Given the description of an element on the screen output the (x, y) to click on. 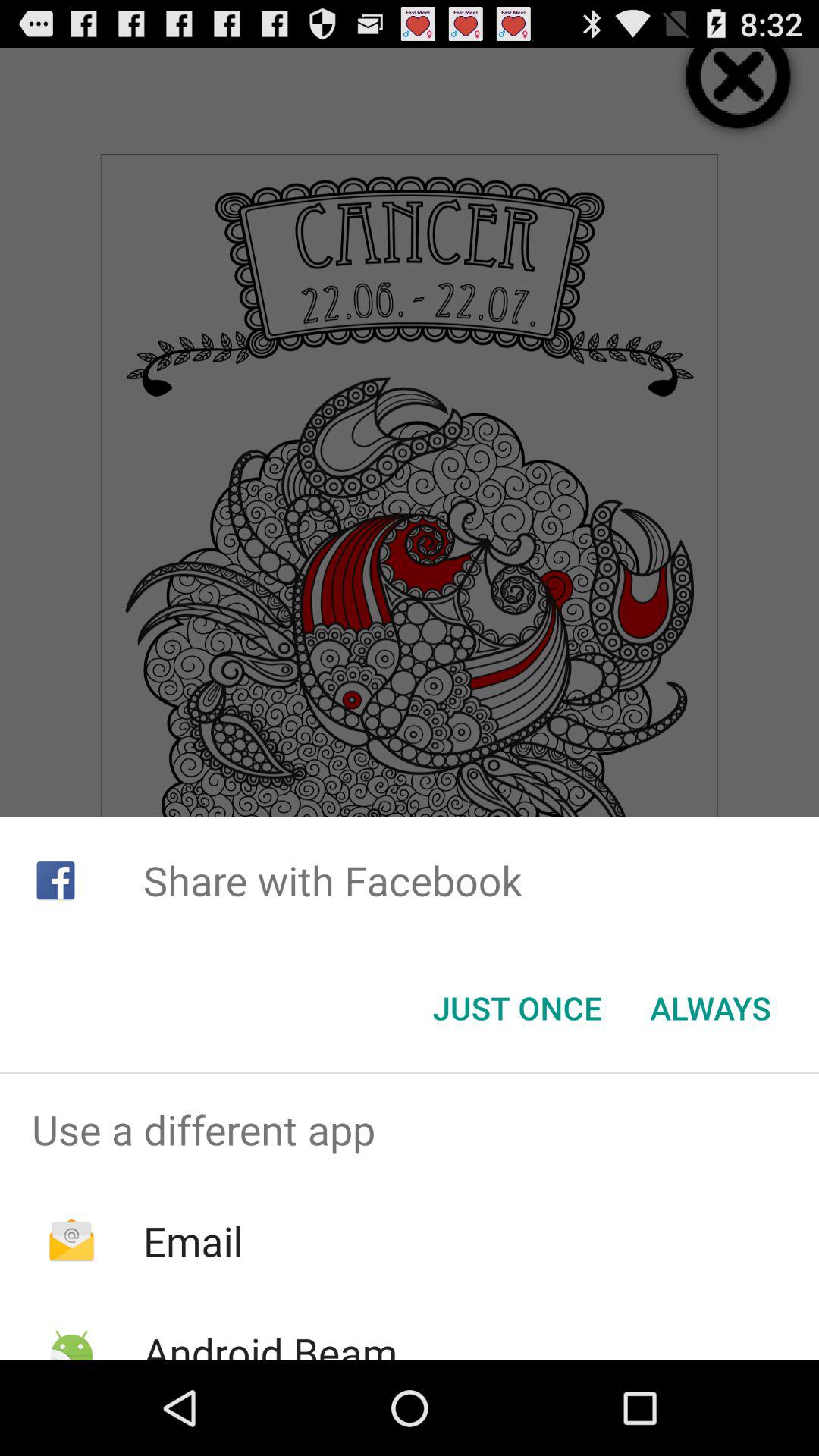
jump until the email icon (192, 1240)
